Given the description of an element on the screen output the (x, y) to click on. 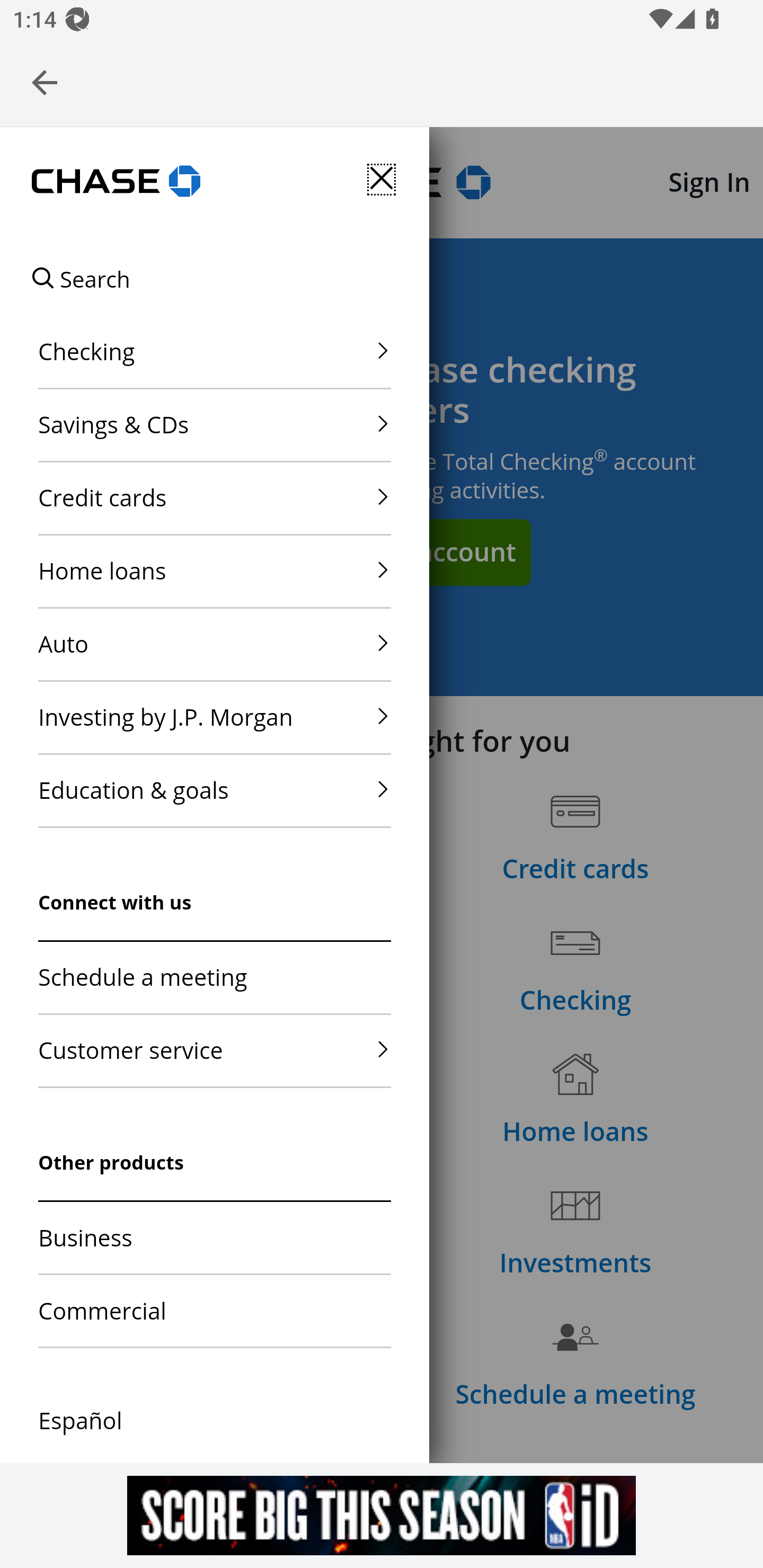
Navigate up (44, 82)
Chase logo, links to Chase home (115, 183)
Close Side Menu (381, 179)
Search (81, 279)
Checking  (214, 352)
Savings & CDs  (214, 424)
Credit cards  (214, 498)
Home loans  (214, 571)
Auto  (214, 644)
Investing by J.P. Morgan  (214, 717)
Education & goals  (214, 789)
Schedule a meeting (214, 978)
Customer service  (214, 1051)
Business (214, 1238)
Commercial (214, 1311)
Español (80, 1428)
